Given the description of an element on the screen output the (x, y) to click on. 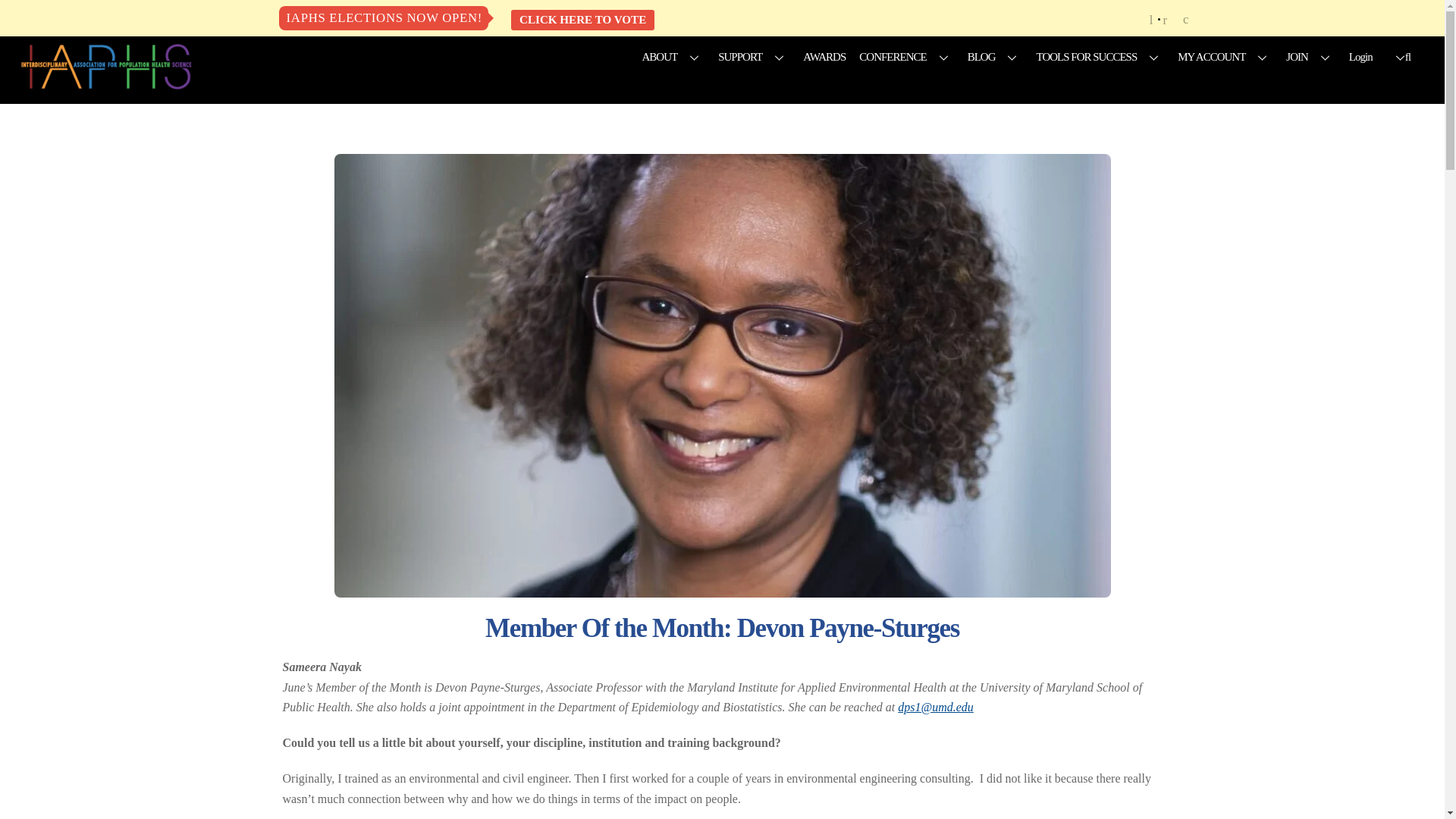
AWARDS (823, 56)
IAPHS ELECTIONS NOW OPEN! (383, 17)
CLICK HERE TO VOTE (582, 19)
ABOUT (672, 56)
SUPPORT (753, 56)
CONFERENCE (905, 56)
